Given the description of an element on the screen output the (x, y) to click on. 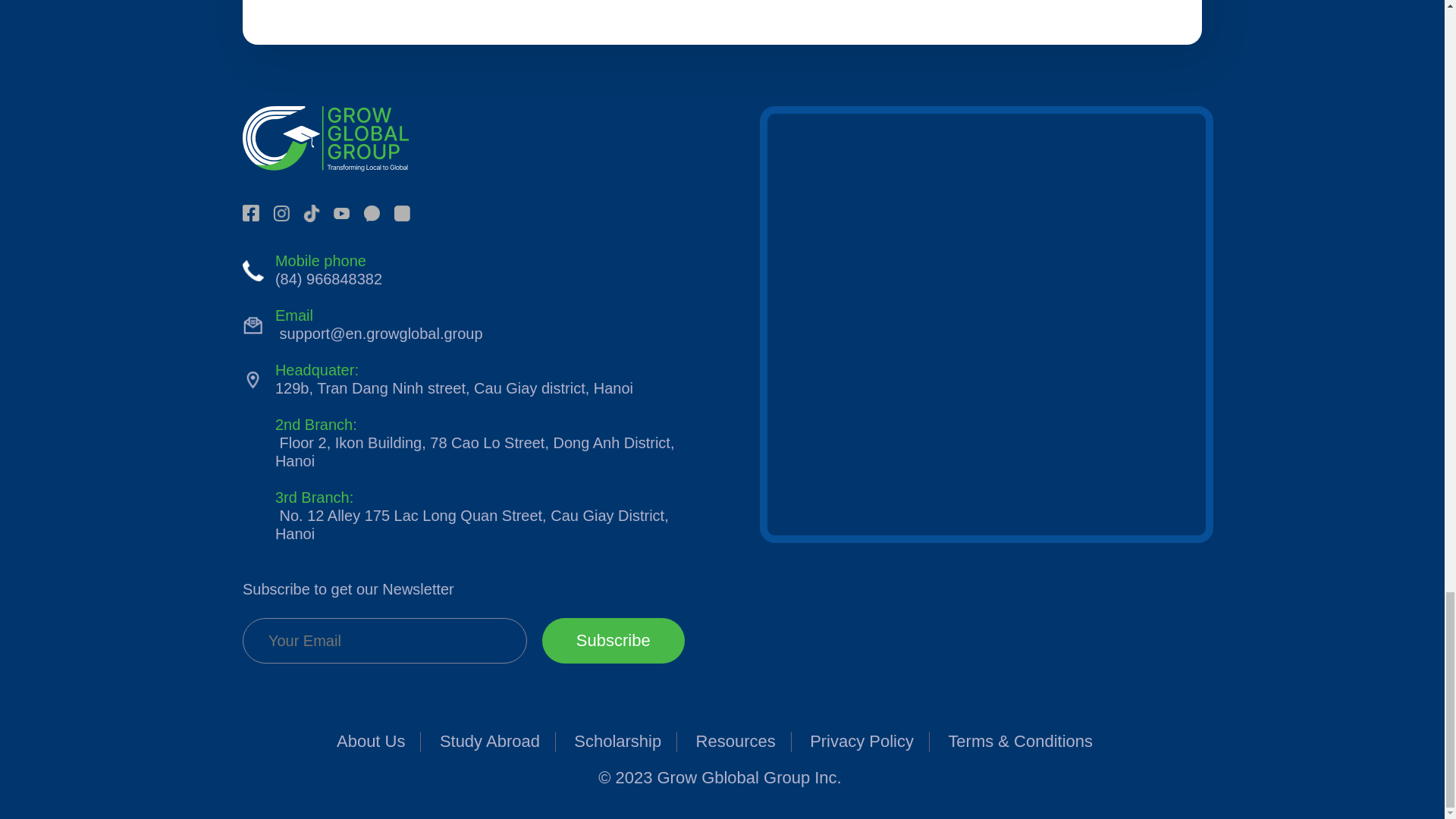
Subscribe (612, 640)
